Given the description of an element on the screen output the (x, y) to click on. 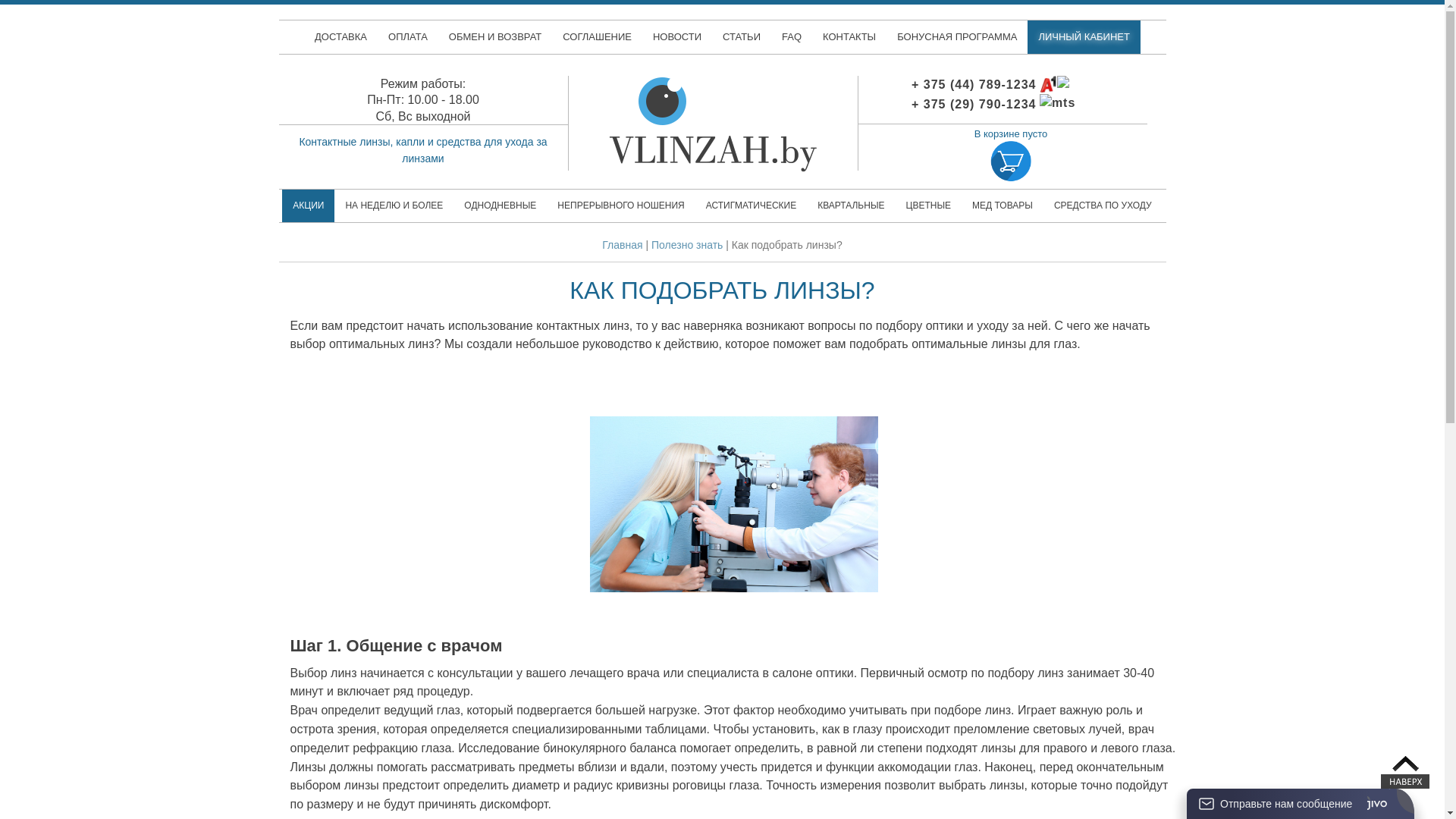
FAQ Element type: text (791, 36)
Vlinzah Element type: hover (712, 81)
